Given the description of an element on the screen output the (x, y) to click on. 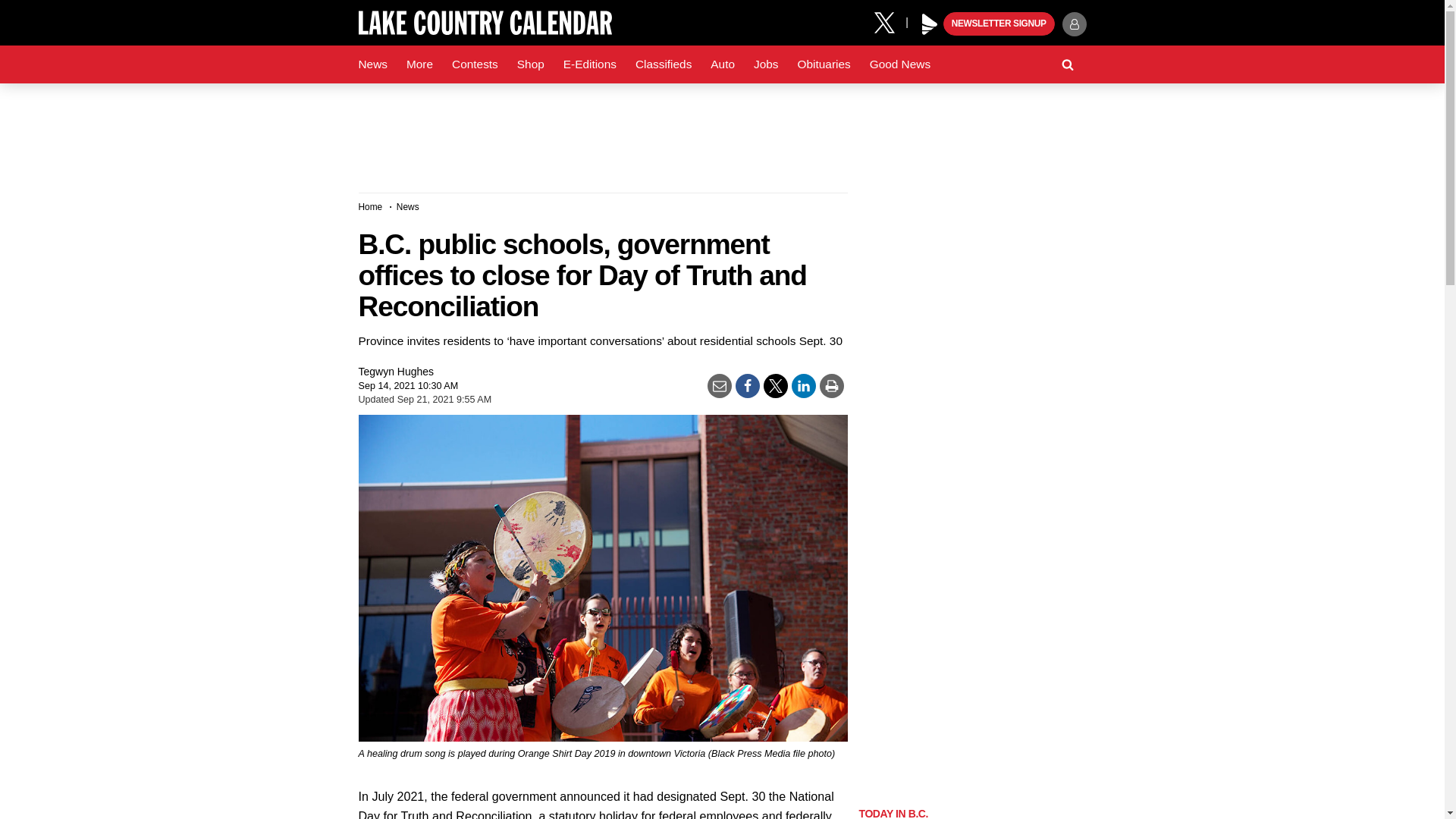
NEWSLETTER SIGNUP (998, 24)
Black Press Media (929, 24)
News (372, 64)
Play (929, 24)
X (889, 21)
